Given the description of an element on the screen output the (x, y) to click on. 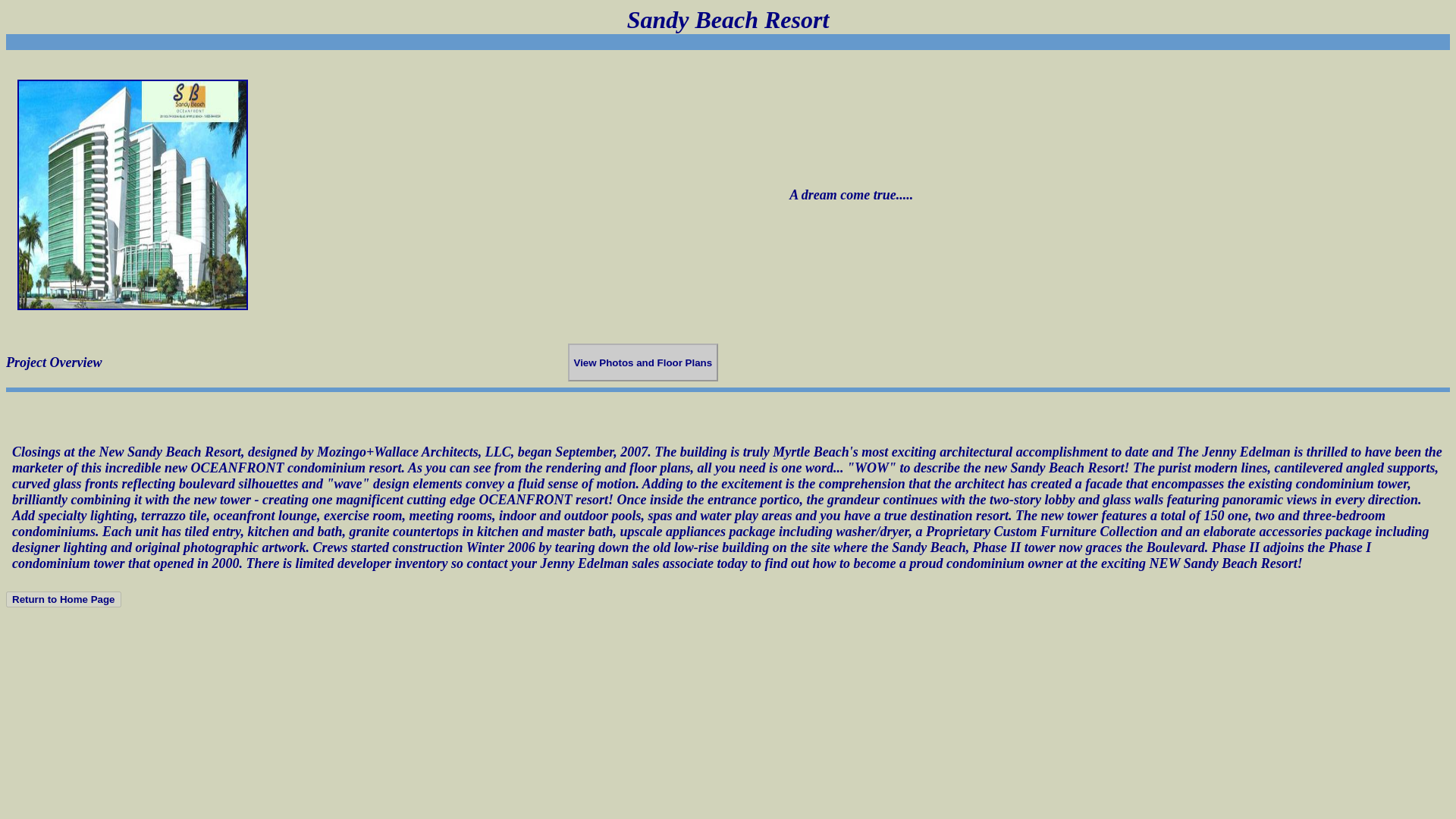
View Photos and Floor Plans (642, 362)
